Given the description of an element on the screen output the (x, y) to click on. 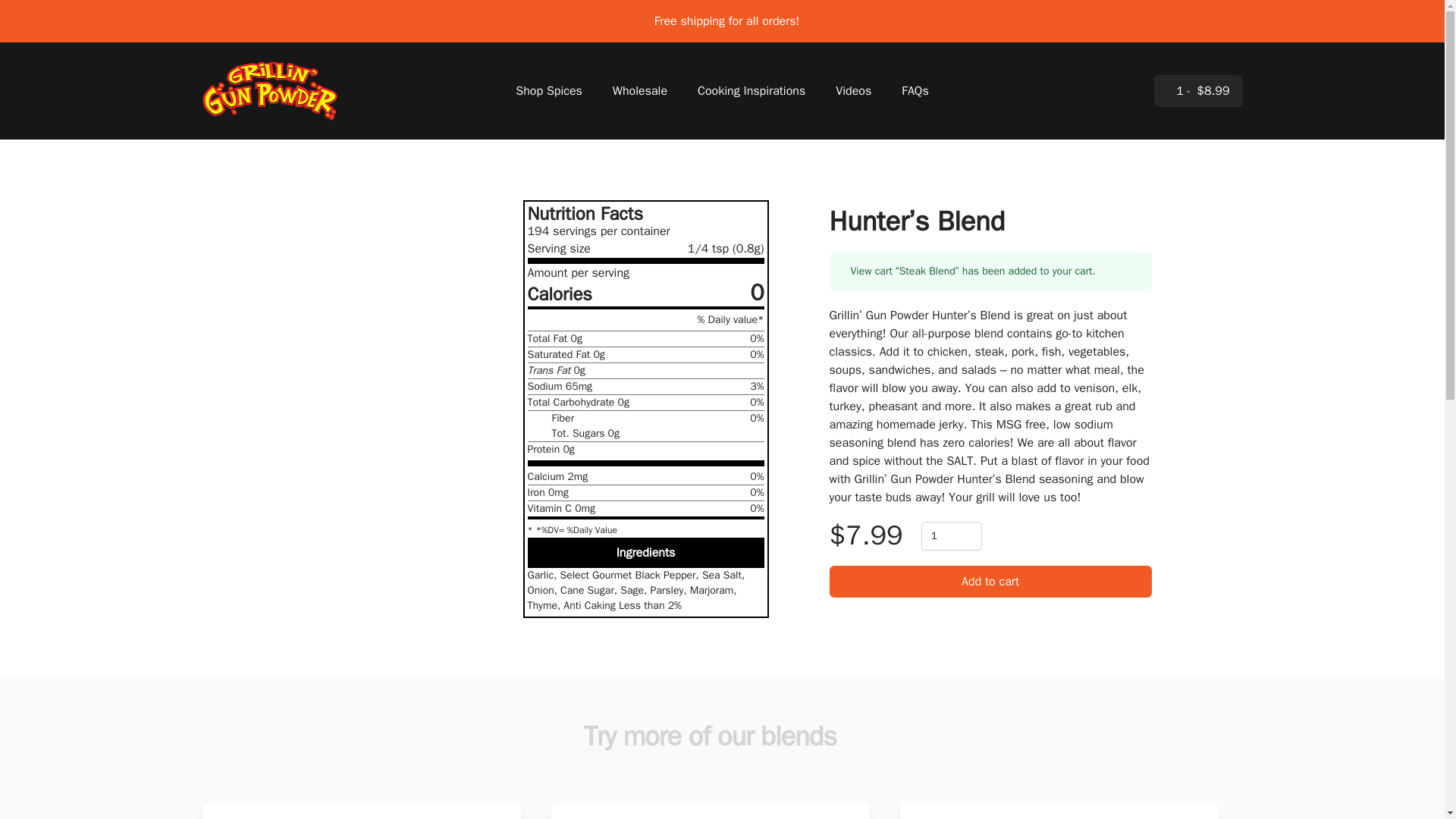
Videos (852, 90)
Dismiss (1138, 271)
Cooking Inspirations (751, 90)
1 (951, 535)
Qty (951, 535)
Shop Spices (548, 90)
FAQs (914, 90)
View your shopping cart (1197, 91)
Wholesale (639, 90)
Add to cart (990, 581)
